Given the description of an element on the screen output the (x, y) to click on. 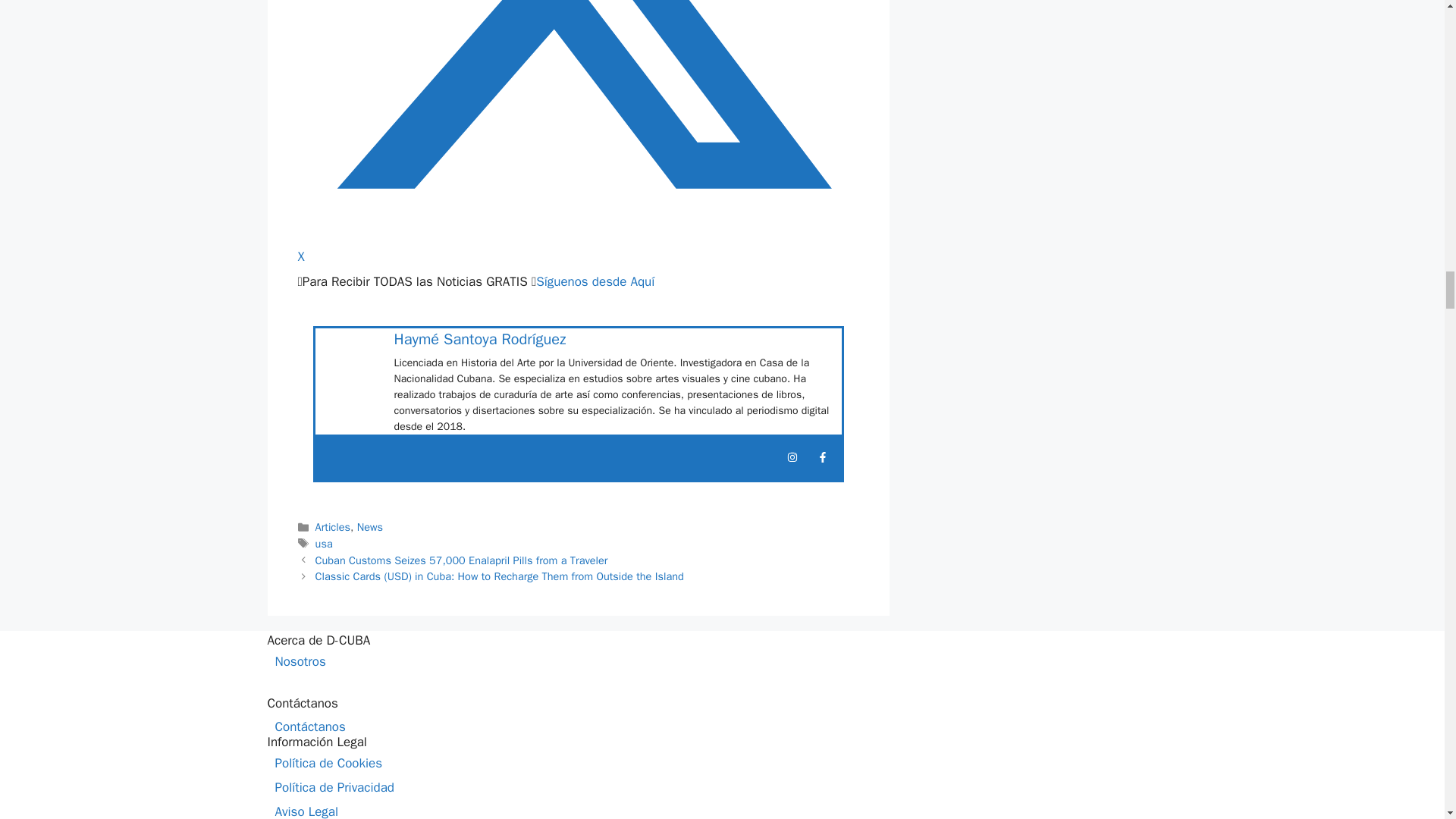
google news (594, 281)
